Given the description of an element on the screen output the (x, y) to click on. 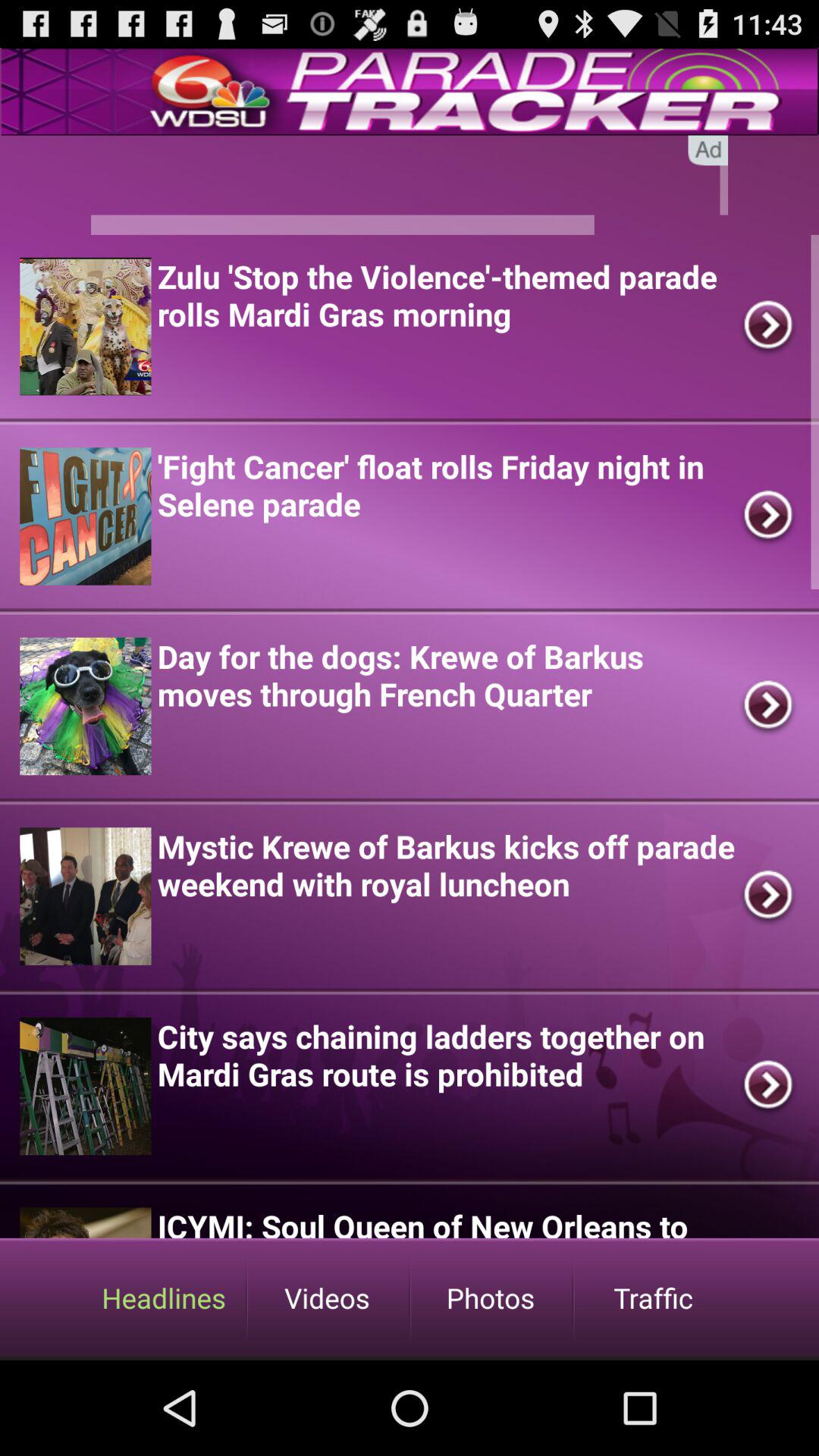
select the sixth image from the top (85, 1223)
click on the videos which is above the navigation bar (327, 1297)
click headlines (164, 1297)
select the 1st image (85, 325)
select the third image (85, 705)
tap on the fourth right scroll (769, 895)
